Given the description of an element on the screen output the (x, y) to click on. 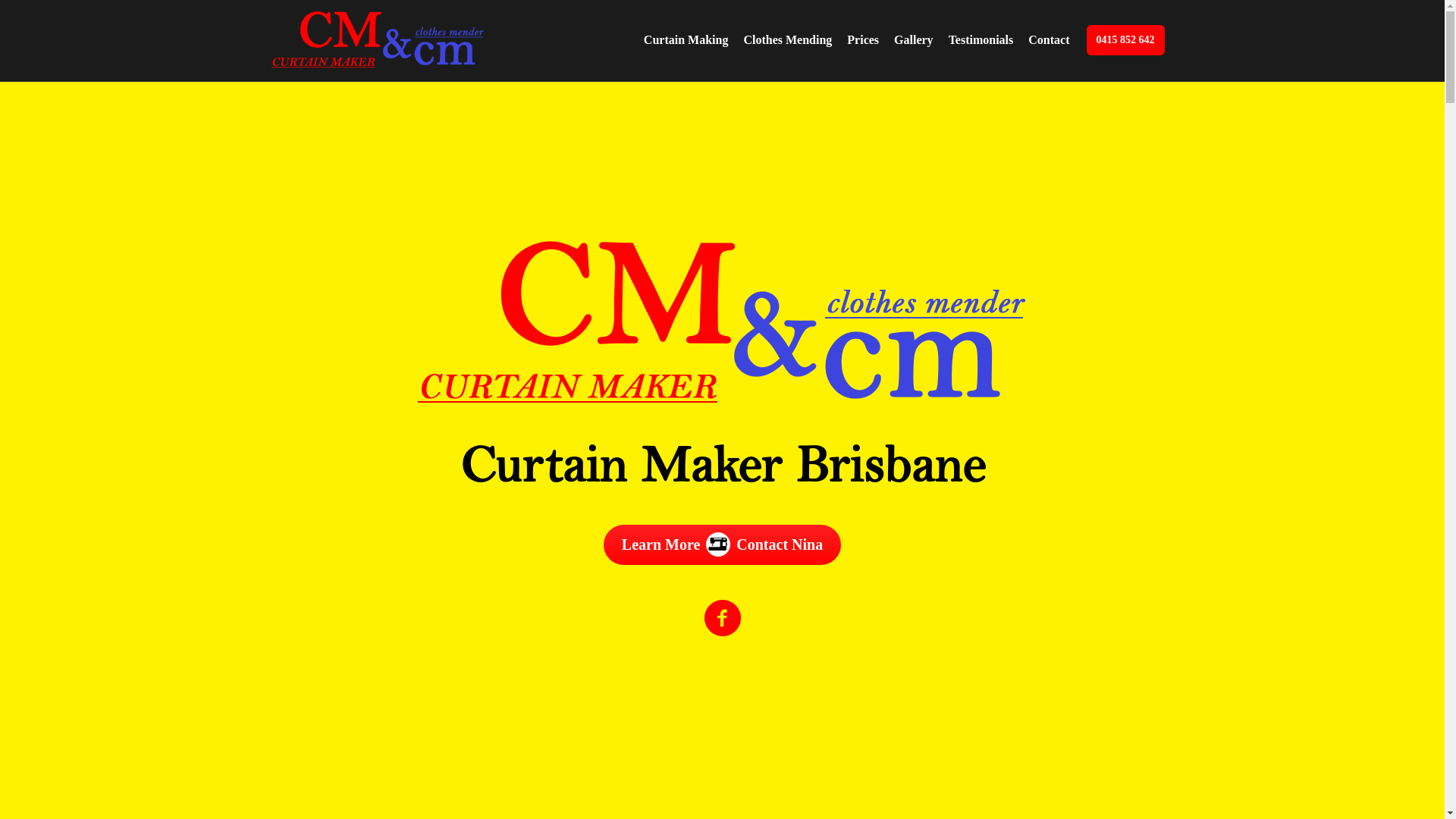
Testimonials Element type: text (981, 39)
0415 852 642 Element type: text (1124, 40)
Prices Element type: text (862, 39)
Contact Nina Element type: text (779, 544)
Learn More Element type: text (660, 544)
Curtain Making Element type: text (686, 39)
Clothes Mending Element type: text (787, 39)
Contact Element type: text (1048, 39)
ico-sewing Element type: hover (718, 541)
Gallery Element type: text (913, 39)
